Given the description of an element on the screen output the (x, y) to click on. 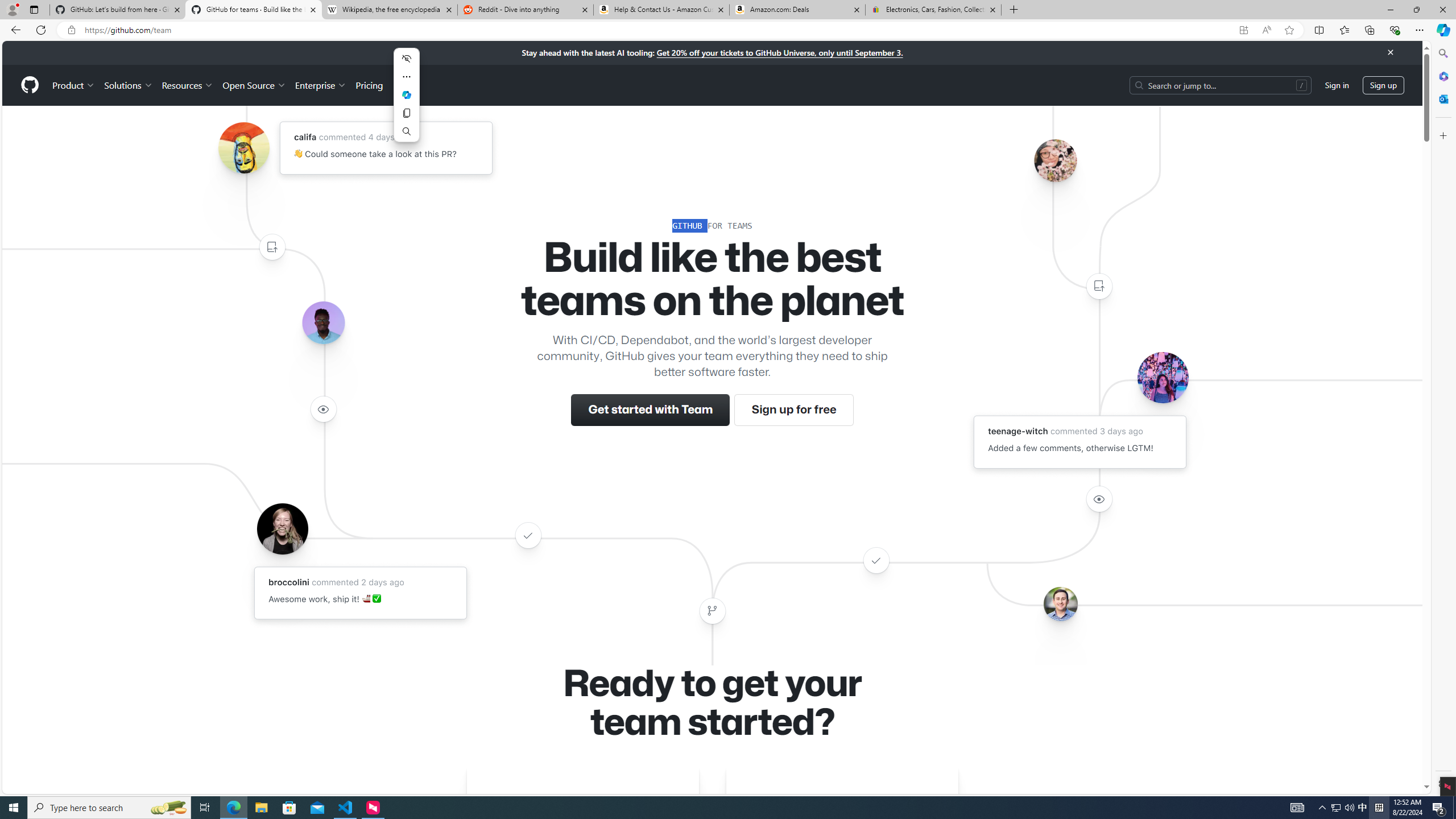
Pricing (368, 84)
Sign up (1382, 84)
Open Source (254, 84)
App bar (728, 29)
Sign in (1336, 84)
Solutions (128, 84)
Class: color-fg-muted width-full (711, 610)
Electronics, Cars, Fashion, Collectibles & More | eBay (933, 9)
Mini menu on text selection (406, 94)
Pricing (368, 84)
